Given the description of an element on the screen output the (x, y) to click on. 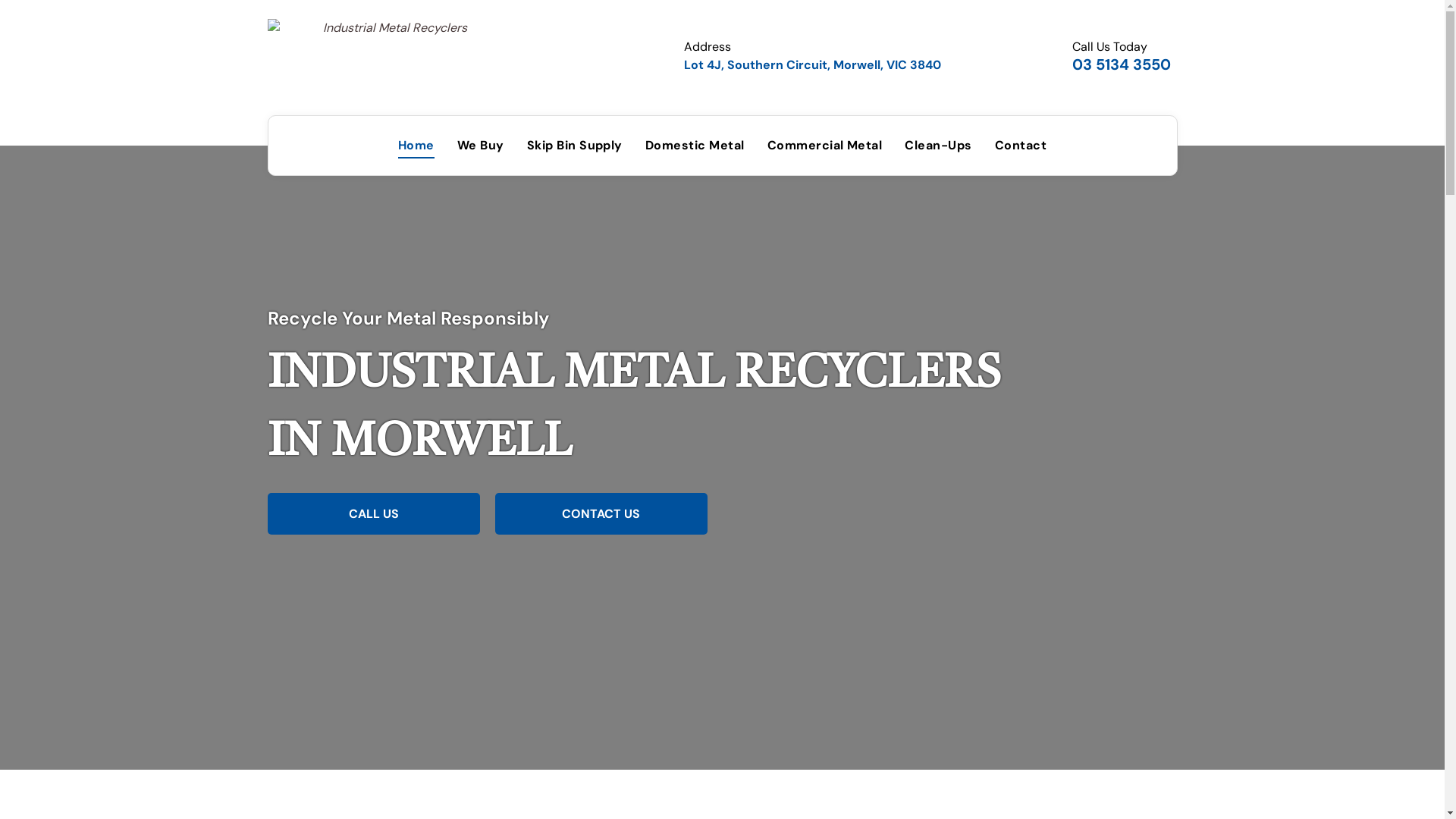
Clean-Ups Element type: text (937, 145)
Commercial Metal Element type: text (825, 145)
Skip Bin Supply Element type: text (574, 145)
CONTACT US Element type: text (600, 513)
We Buy Element type: text (480, 145)
Home Element type: text (415, 145)
Lot 4J, Southern Circuit, Morwell, VIC 3840 Element type: text (812, 64)
Industrial Metal Recyclers Element type: hover (387, 55)
Contact Element type: text (1020, 145)
Domestic Metal Element type: text (694, 145)
CALL US Element type: text (372, 513)
03 5134 3550 Element type: text (1121, 64)
